Given the description of an element on the screen output the (x, y) to click on. 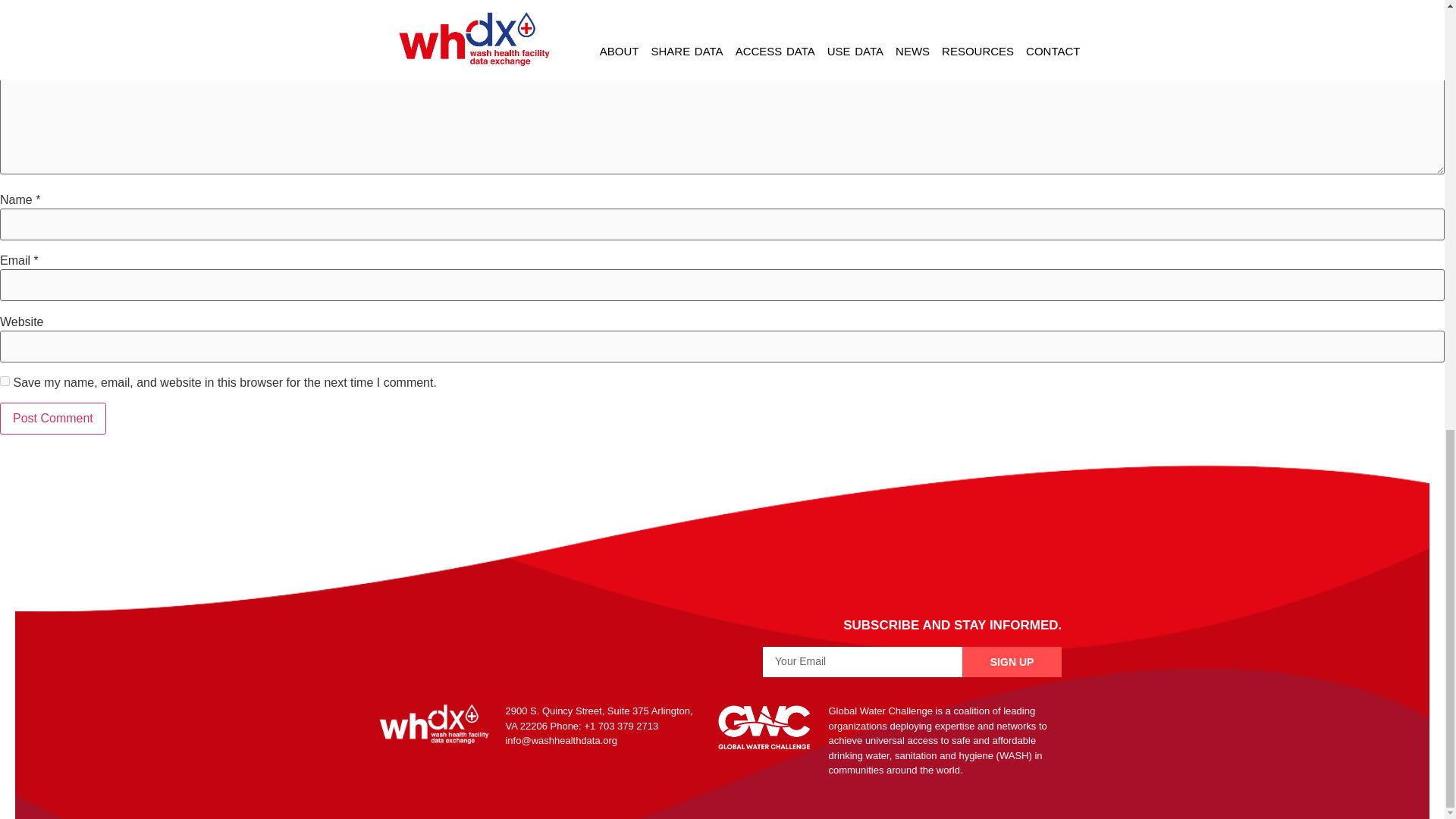
Post Comment (53, 418)
SIGN UP (1011, 662)
yes (5, 380)
Post Comment (53, 418)
